Given the description of an element on the screen output the (x, y) to click on. 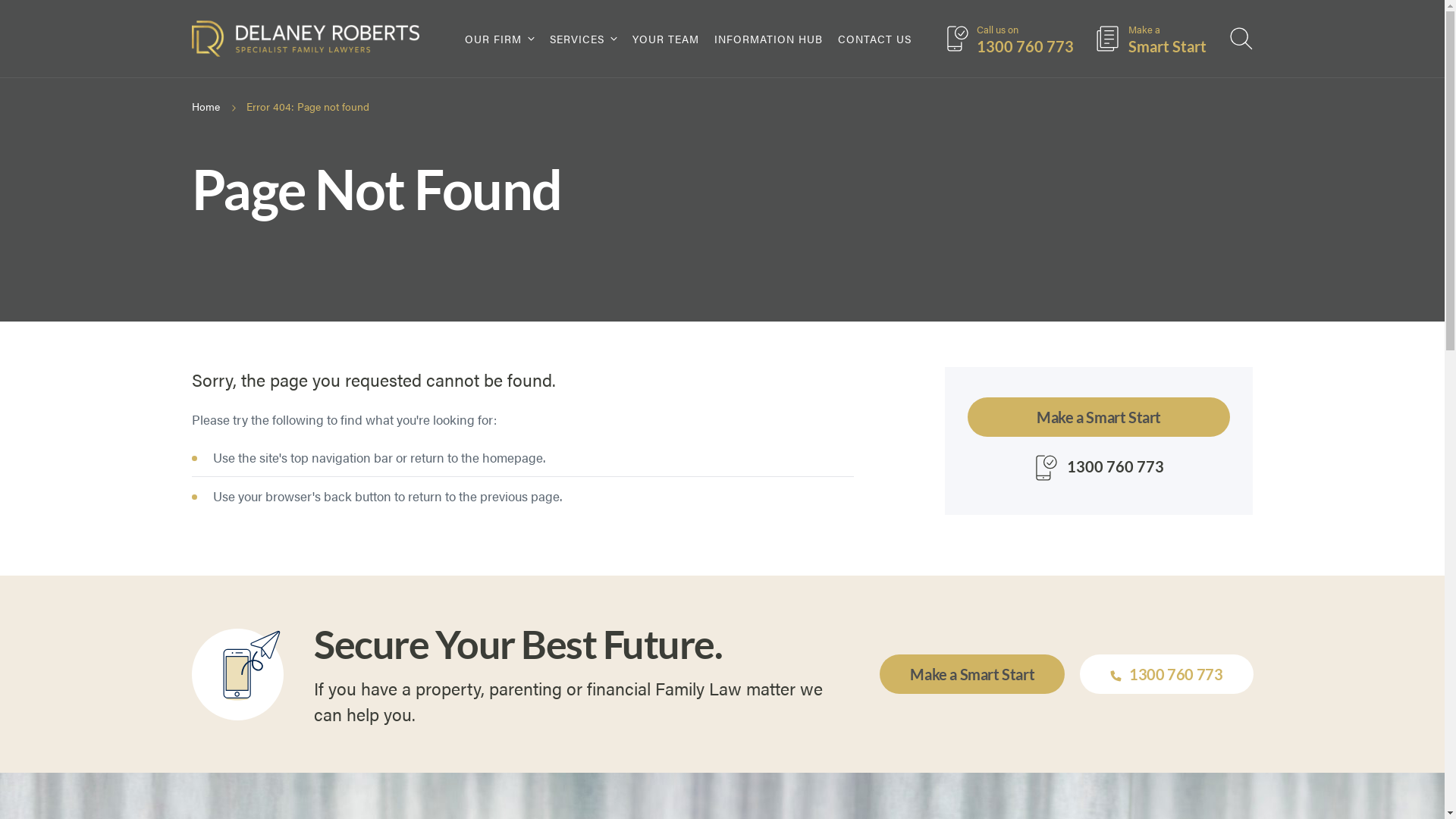
Call us on
1300 760 773 Element type: text (1008, 38)
Make a Smart Start Element type: text (971, 673)
1300 760 773 Element type: text (1098, 467)
OUR FIRM Element type: text (498, 38)
Make a Smart Start Element type: text (1098, 416)
Make a
Smart Start Element type: text (1151, 38)
YOUR TEAM Element type: text (665, 38)
Home Element type: text (205, 105)
SERVICES Element type: text (582, 38)
CONTACT US Element type: text (873, 38)
1300 760 773 Element type: text (1165, 673)
INFORMATION HUB Element type: text (768, 38)
